Given the description of an element on the screen output the (x, y) to click on. 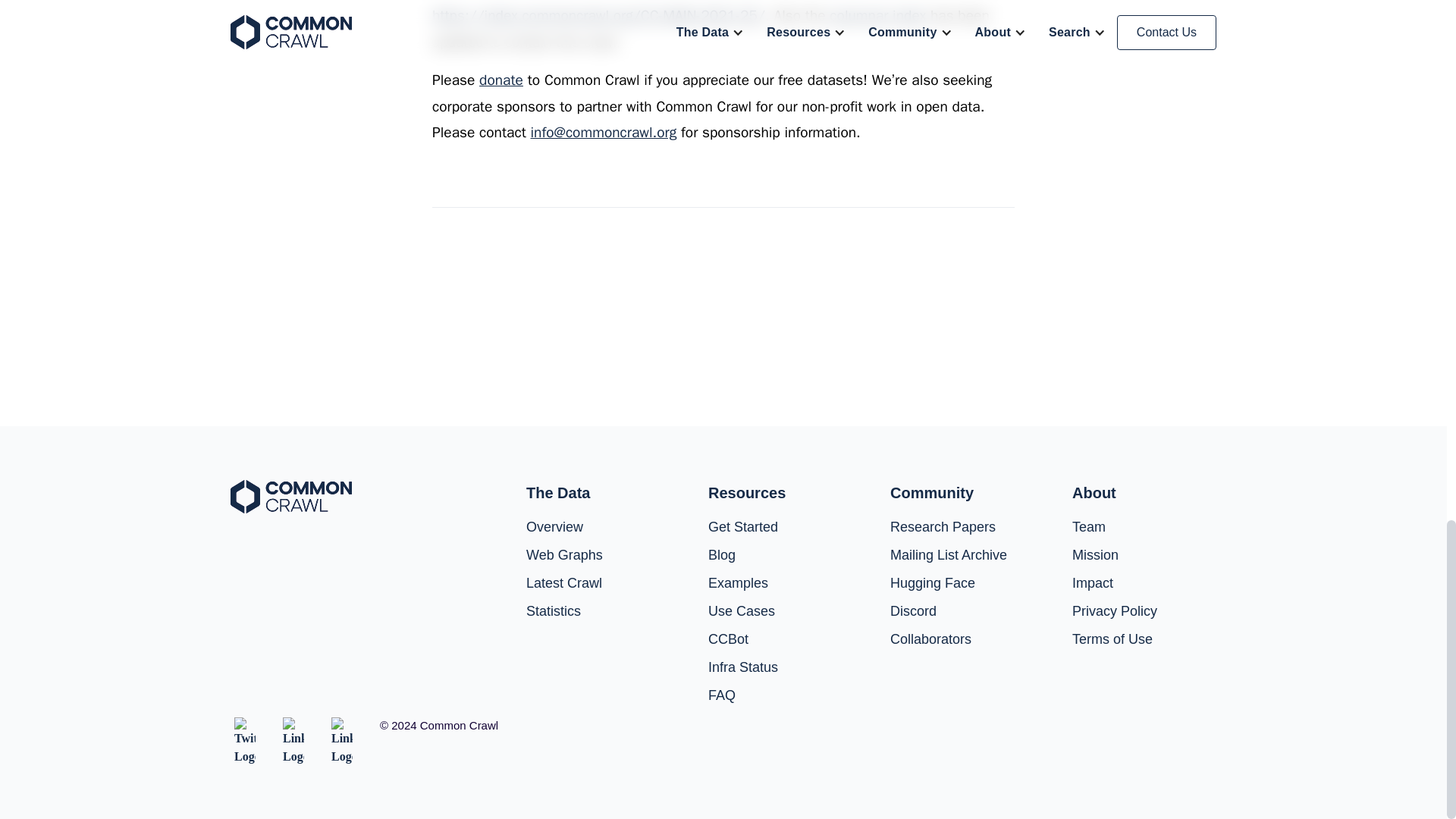
Overview (554, 527)
donate (500, 80)
columnar index (877, 15)
